Given the description of an element on the screen output the (x, y) to click on. 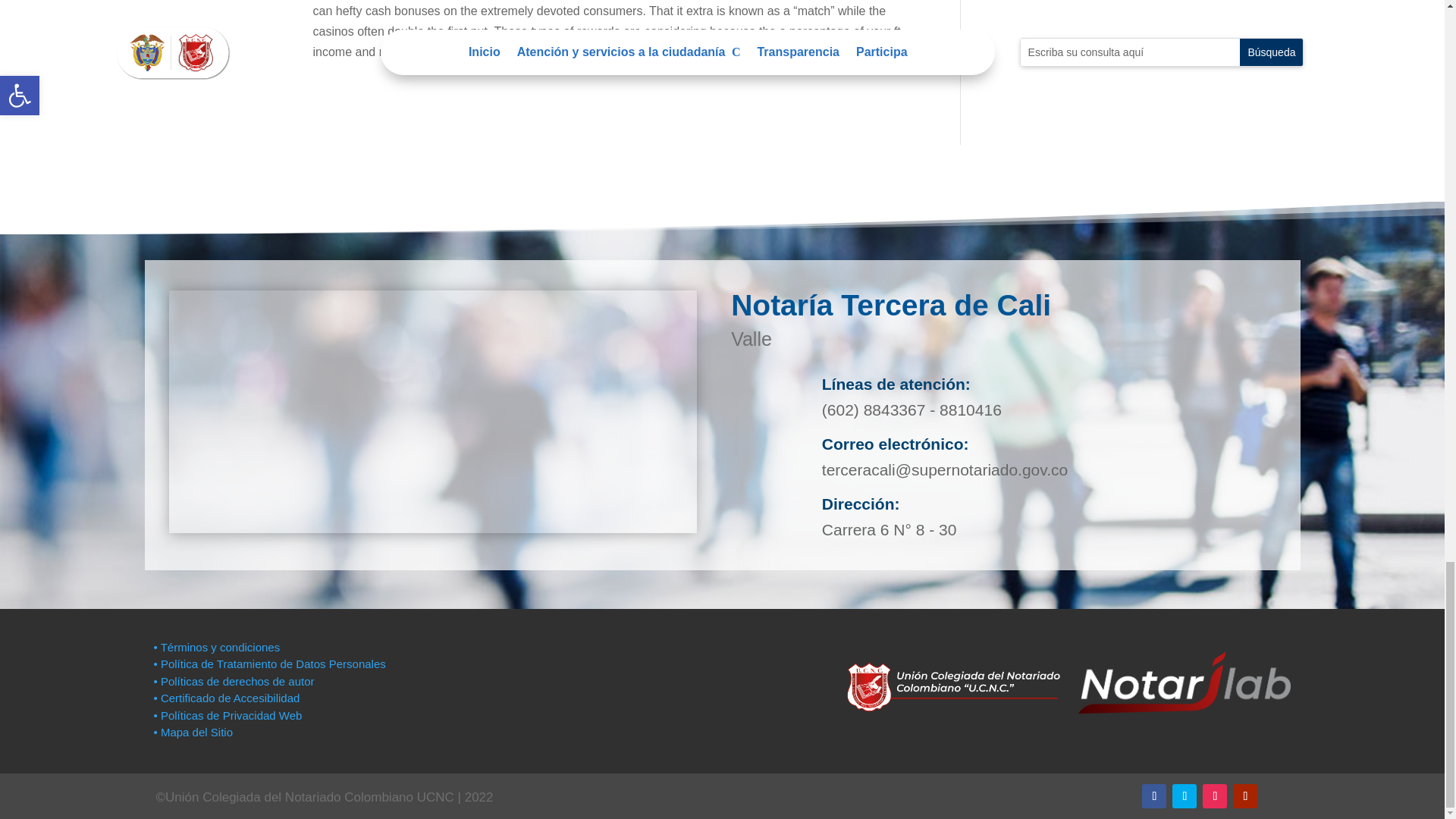
Certificado de Accesibilidad (225, 697)
Seguir en Instagram (1214, 795)
Seguir en Twitter (1184, 795)
Seguir en Youtube (1245, 795)
Mapa del Sitio (193, 731)
Seguir en Facebook (1153, 795)
